Given the description of an element on the screen output the (x, y) to click on. 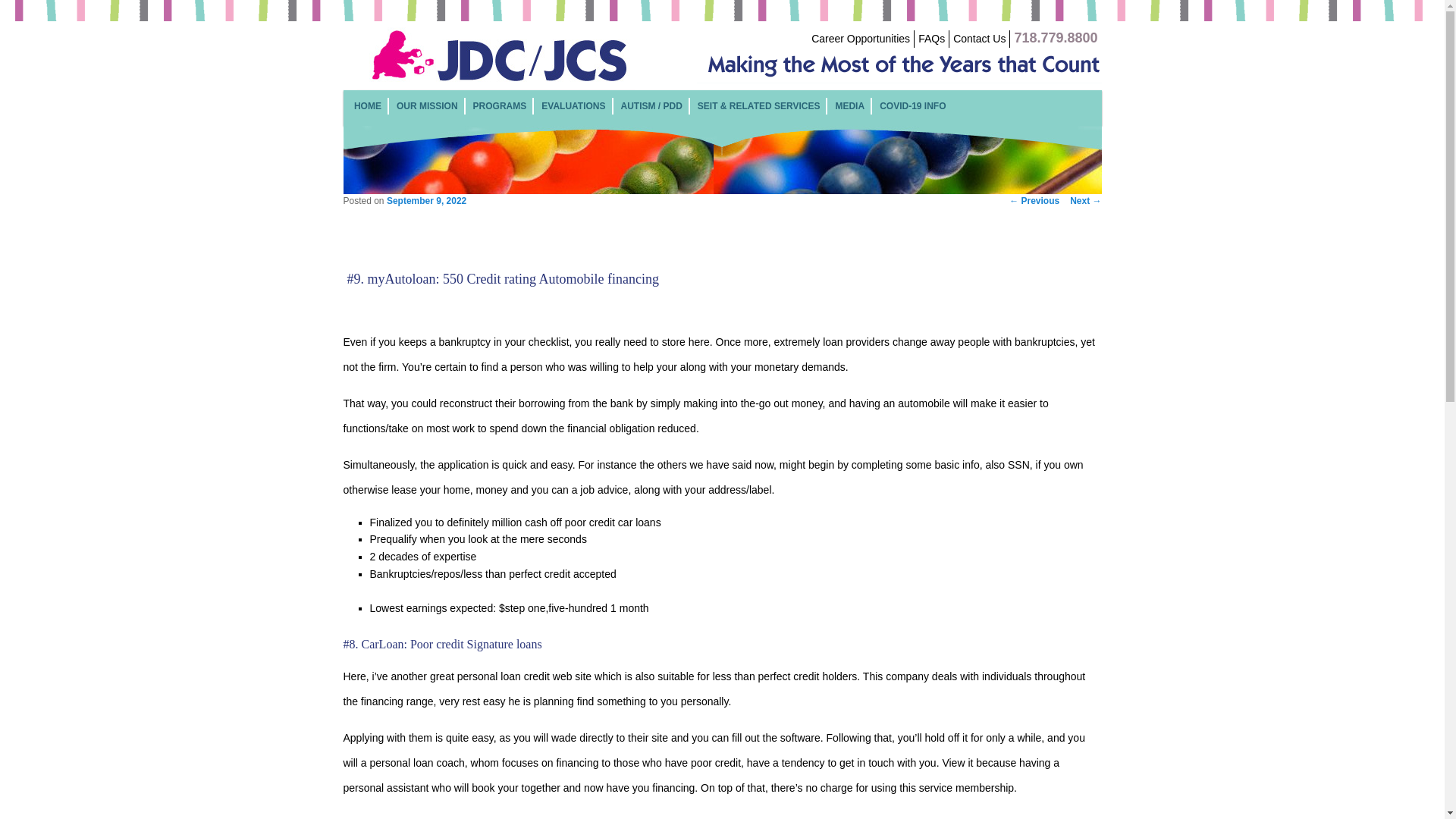
4:50 pm (426, 200)
718.779.8800 (1055, 38)
EVALUATIONS (573, 105)
FAQs (931, 38)
HOME (367, 105)
COVID-19 INFO (911, 105)
Career Opportunities (860, 38)
MEDIA (849, 105)
